Given the description of an element on the screen output the (x, y) to click on. 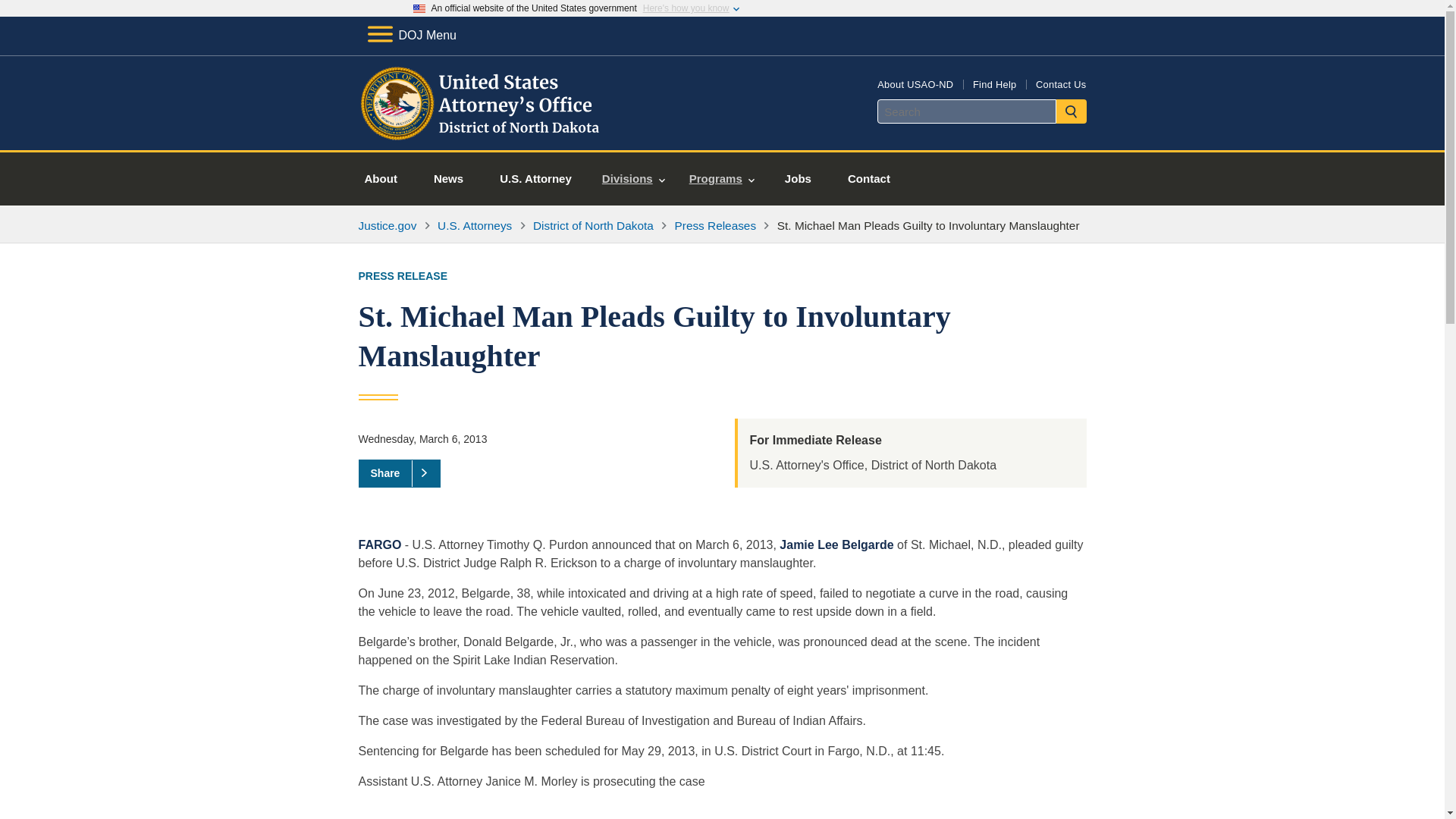
Here's how you know (686, 8)
Contact Us (1060, 84)
About USAO-ND (915, 84)
U.S. Attorney (535, 179)
Contact (868, 179)
Home (481, 132)
Programs (722, 179)
Press Releases (716, 225)
U.S. Attorneys (475, 225)
Justice.gov (387, 225)
District of North Dakota (592, 225)
Divisions (633, 179)
Share (398, 472)
Jobs (798, 179)
News (447, 179)
